Given the description of an element on the screen output the (x, y) to click on. 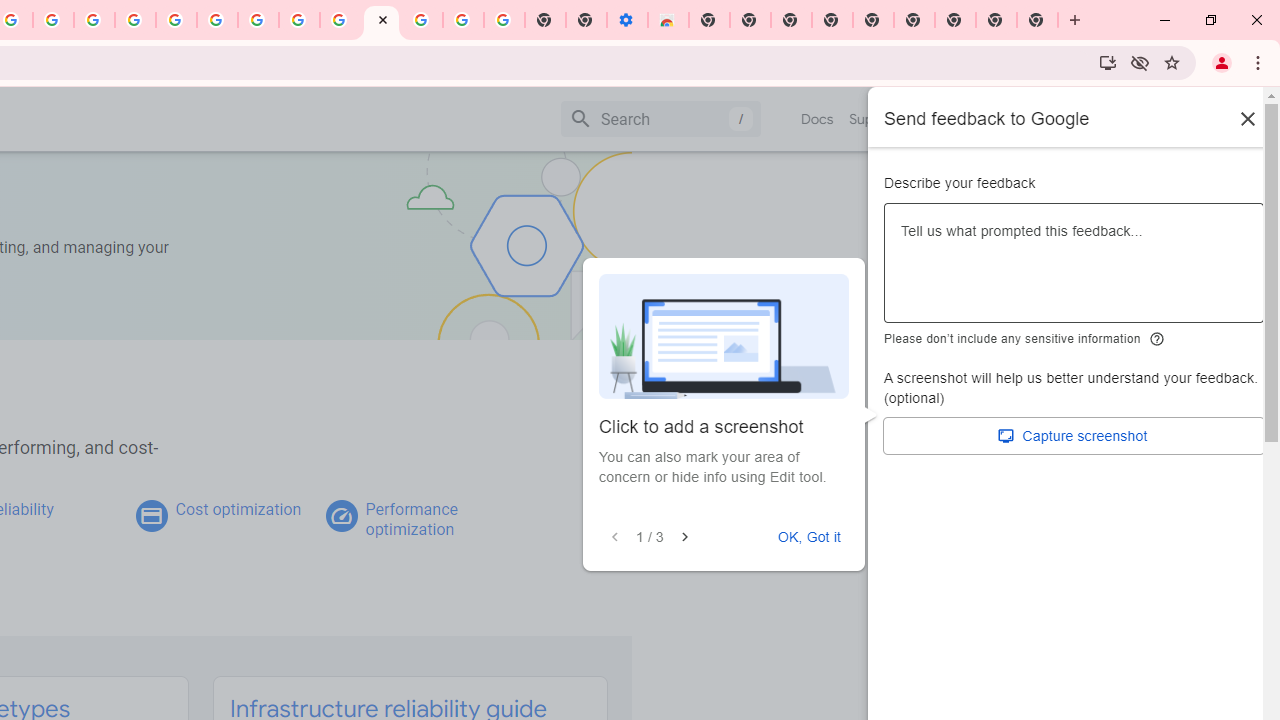
OK, Got it (809, 537)
Turn cookies on or off - Computer - Google Account Help (503, 20)
Capture screenshot (1074, 436)
New Tab (1037, 20)
Previous (614, 537)
